Given the description of an element on the screen output the (x, y) to click on. 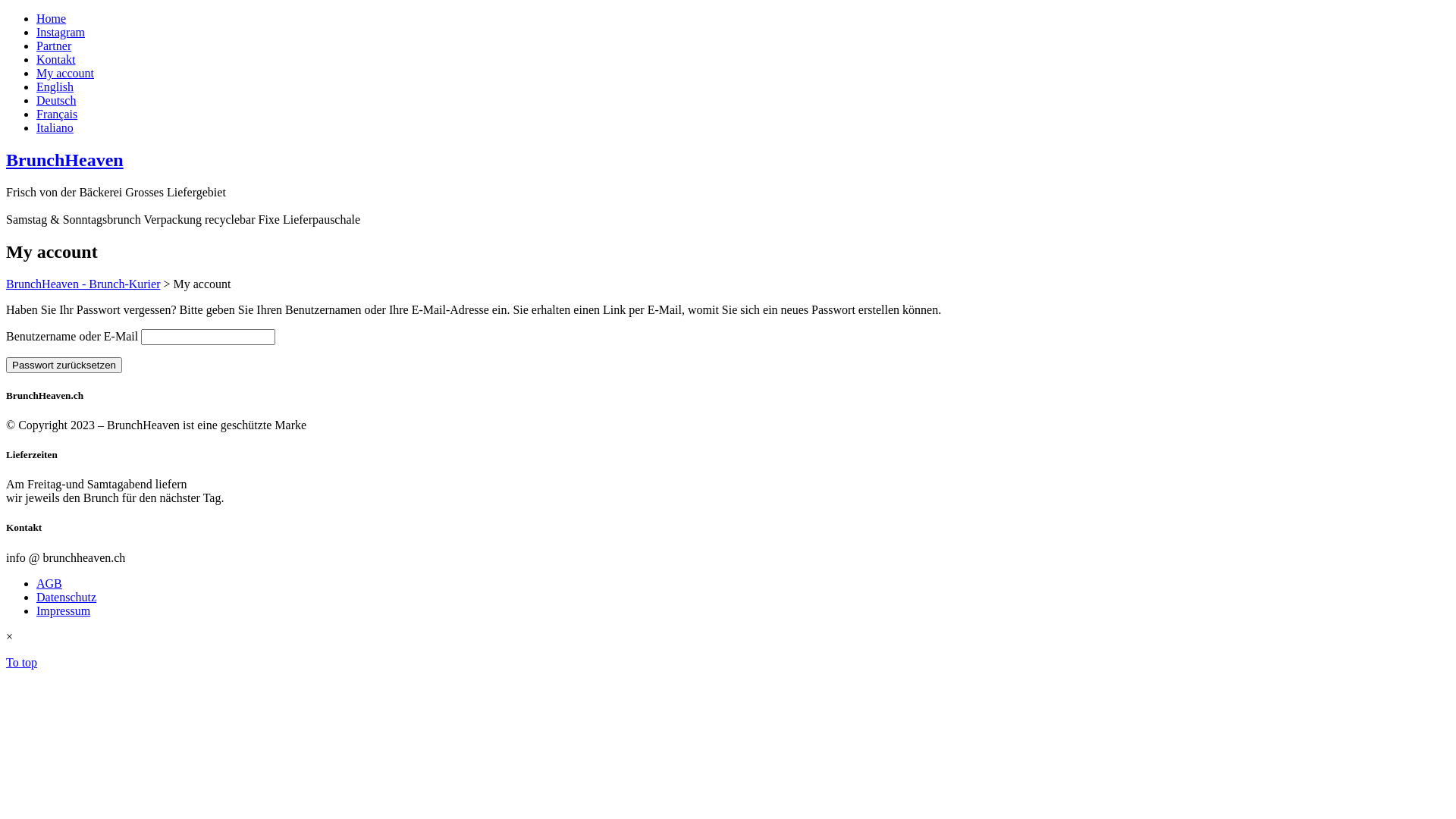
Italiano Element type: text (54, 127)
To top Element type: text (21, 661)
Deutsch Element type: text (55, 100)
BrunchHeaven - Brunch-Kurier Element type: text (83, 283)
My account Element type: text (65, 72)
AGB Element type: text (49, 583)
BrunchHeaven Element type: text (64, 159)
Impressum Element type: text (63, 610)
Partner Element type: text (53, 45)
Home Element type: text (50, 18)
Instagram Element type: text (60, 31)
Kontakt Element type: text (55, 59)
Datenschutz Element type: text (66, 596)
English Element type: text (54, 86)
